Given the description of an element on the screen output the (x, y) to click on. 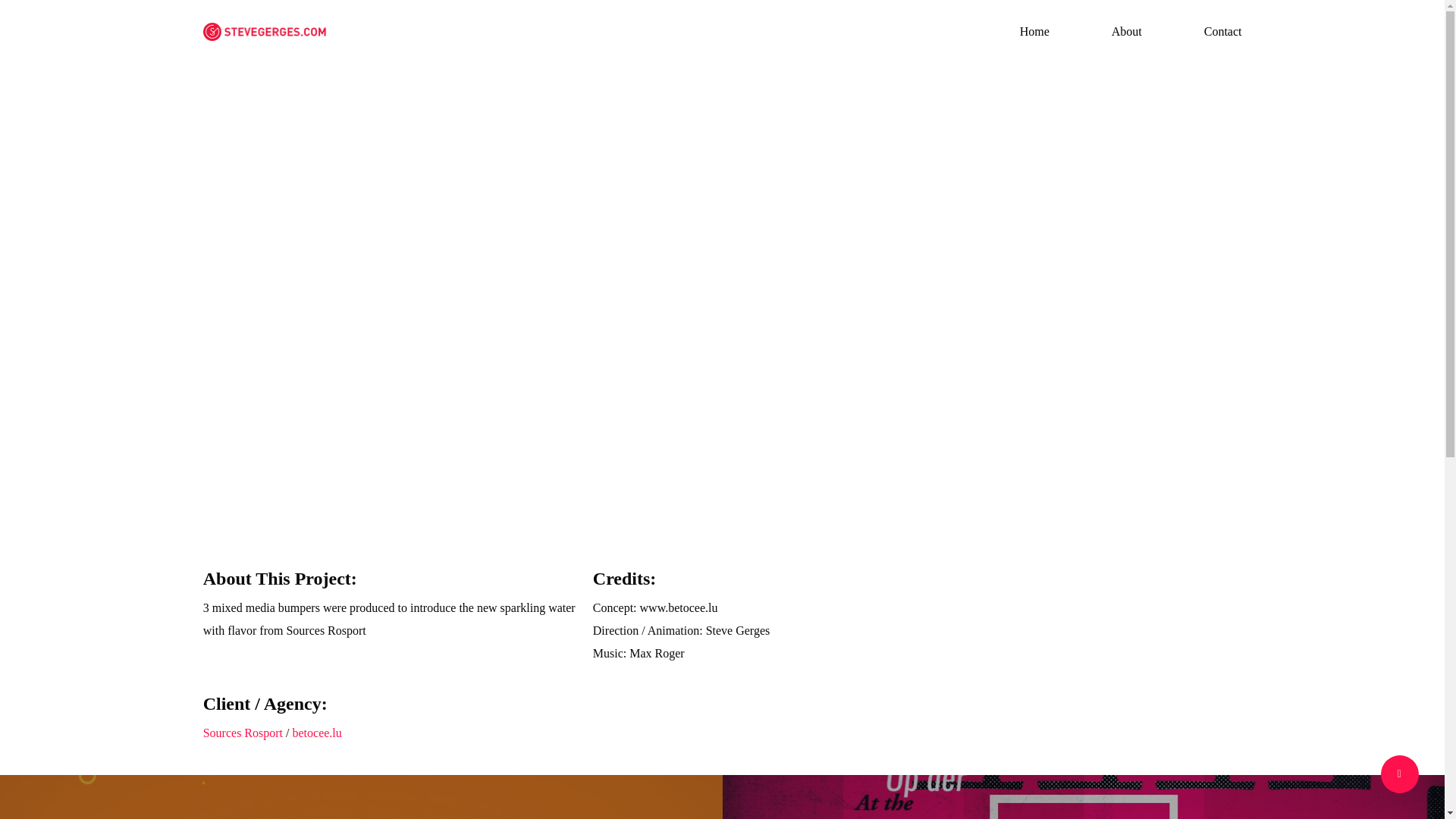
About (1126, 31)
Home (1034, 31)
facebook (642, 727)
vimeo (695, 727)
instagram (802, 727)
Contact (1222, 31)
Menu (1415, 7)
Sources Rosport (242, 732)
betocee.lu (316, 732)
linkedin (748, 727)
